Given the description of an element on the screen output the (x, y) to click on. 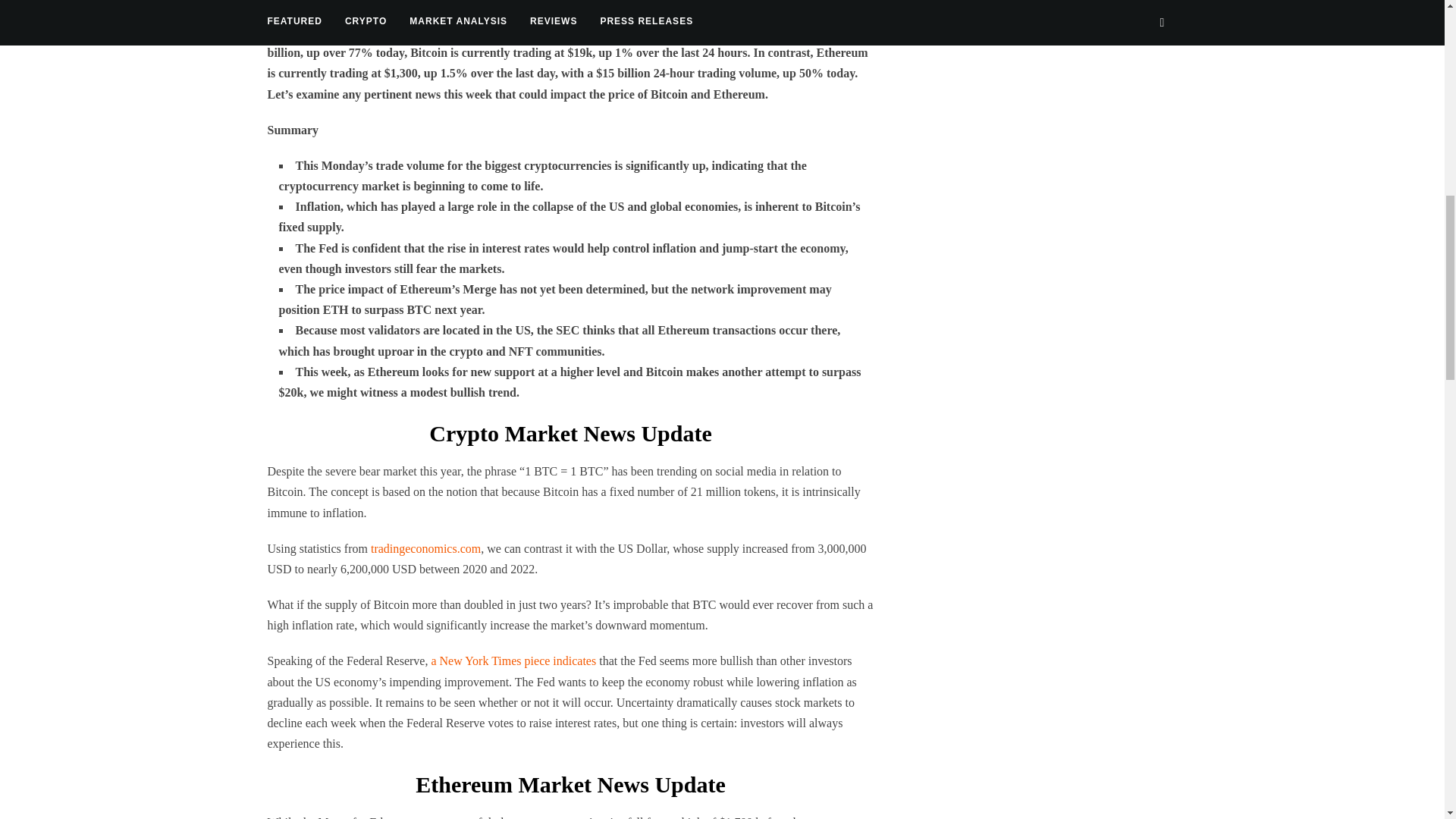
tradingeconomics.com (425, 548)
a New York Times piece indicates (512, 660)
